Given the description of an element on the screen output the (x, y) to click on. 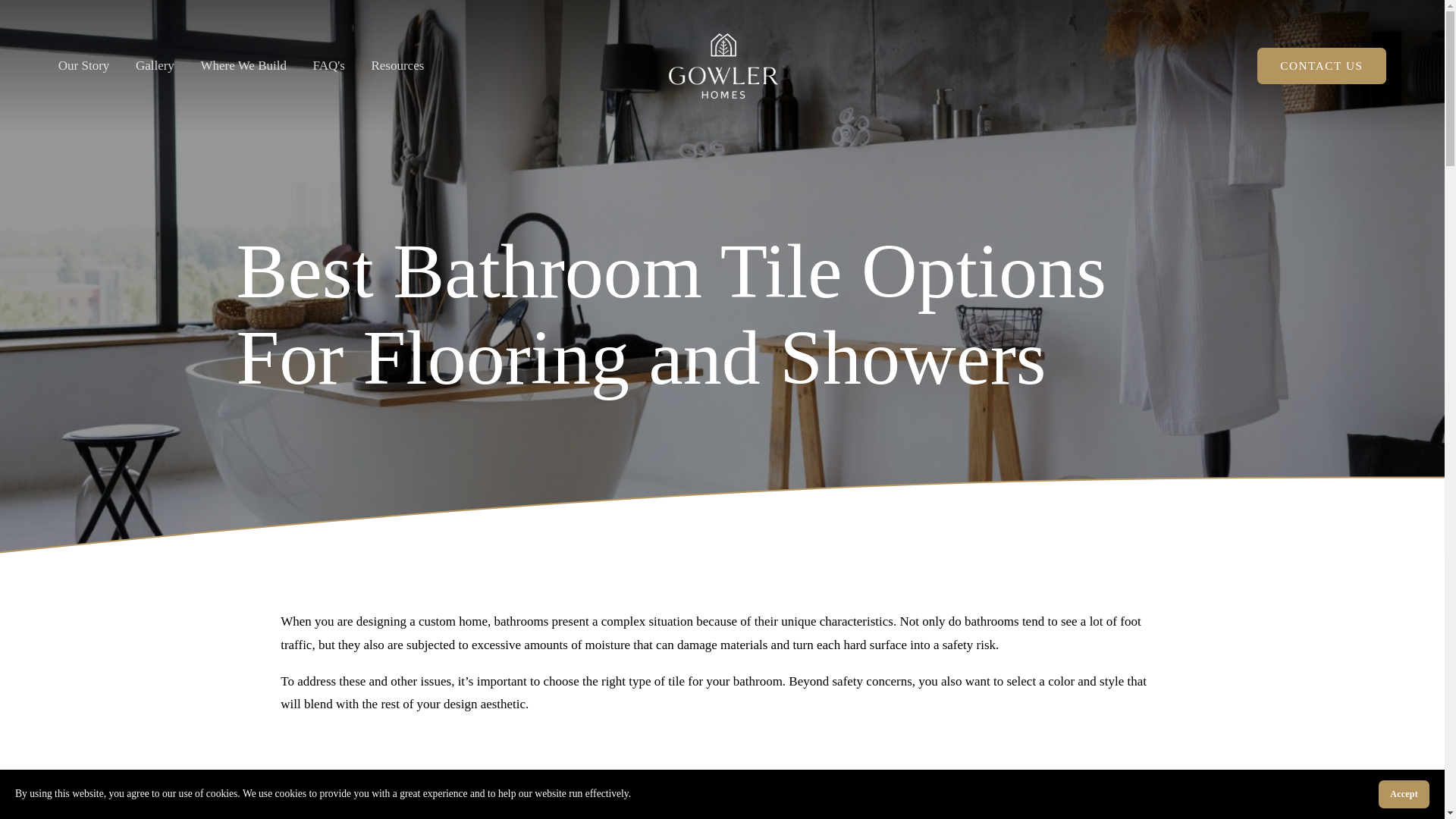
Resources (397, 65)
Where We Build (243, 65)
FAQ's (328, 65)
CONTACT US (1322, 66)
Our Story (84, 65)
Accept (1403, 794)
Gallery (154, 65)
